Given the description of an element on the screen output the (x, y) to click on. 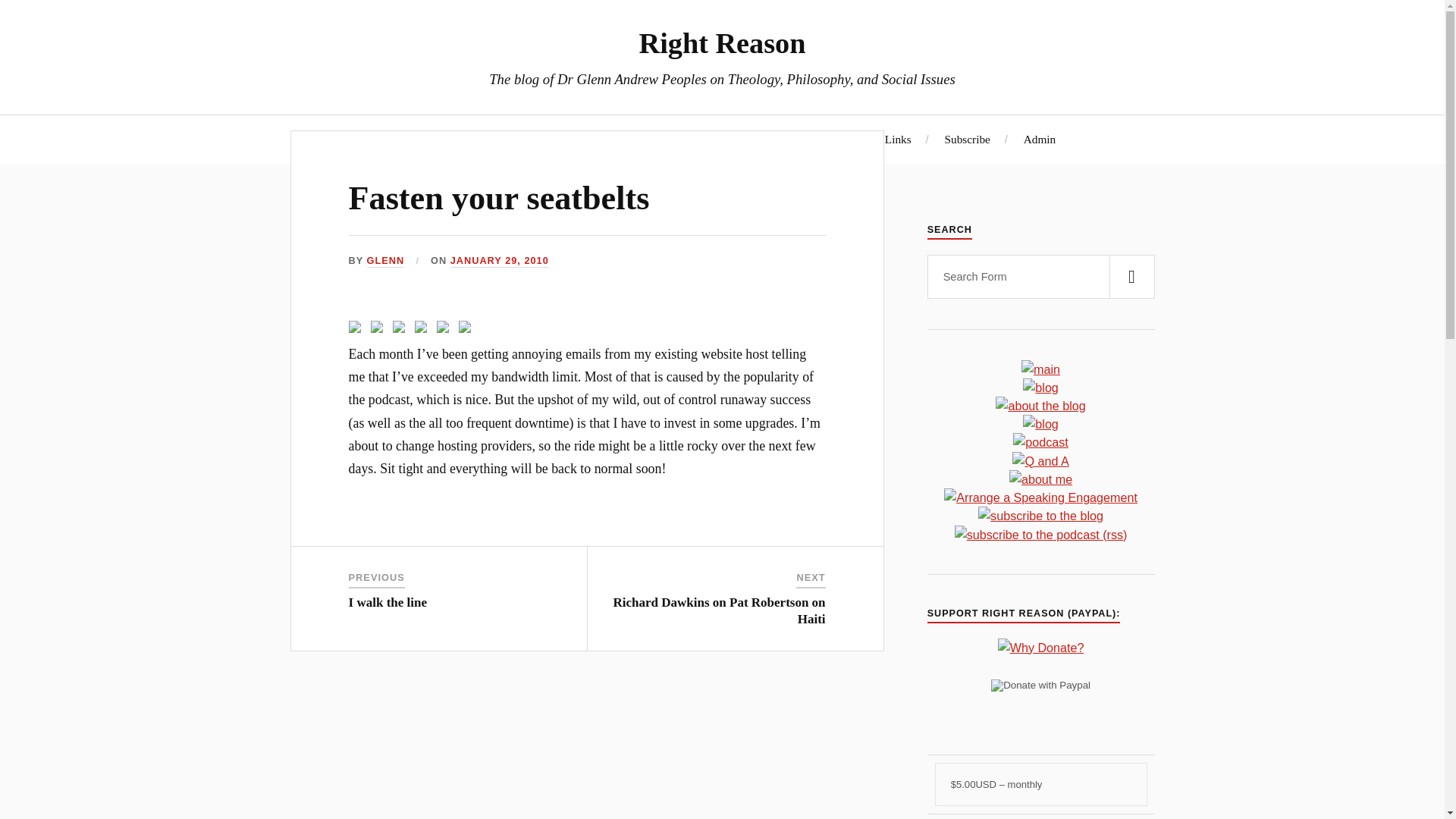
GLENN (385, 260)
Fasten your seatbelts (499, 198)
Share on Facebook (357, 330)
Posts by Glenn (385, 260)
JANUARY 29, 2010 (498, 260)
Blog policy (823, 138)
Share on Reddit (398, 326)
Right Reason (722, 42)
Share on Reddit (401, 330)
Pin it with Pinterest (423, 330)
